Given the description of an element on the screen output the (x, y) to click on. 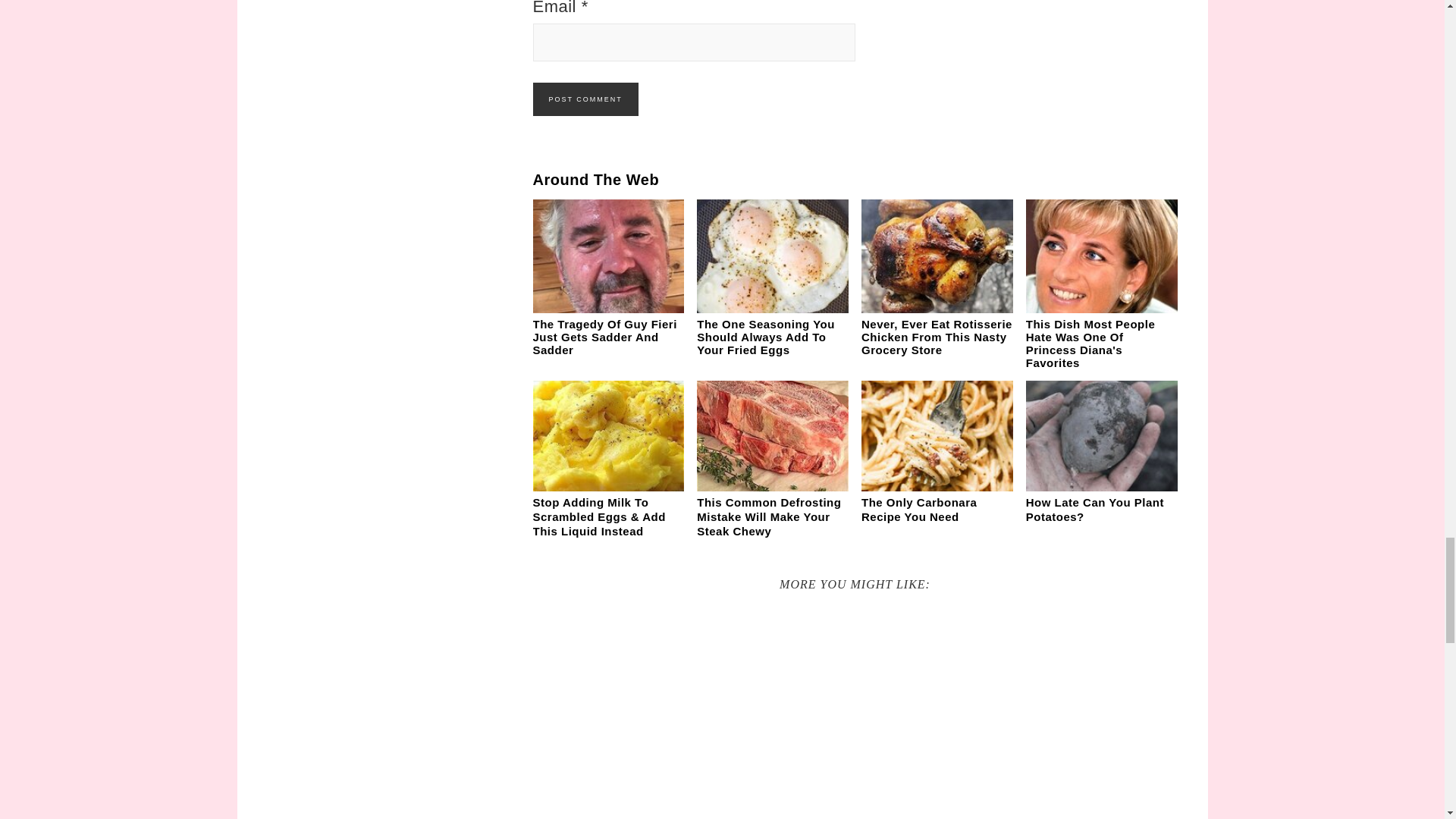
Post Comment (584, 99)
Post Comment (584, 99)
The Tragedy Of Guy Fieri Just Gets Sadder And Sadder (604, 336)
The One Seasoning You Should Always Add To Your Fried Eggs (765, 336)
